Given the description of an element on the screen output the (x, y) to click on. 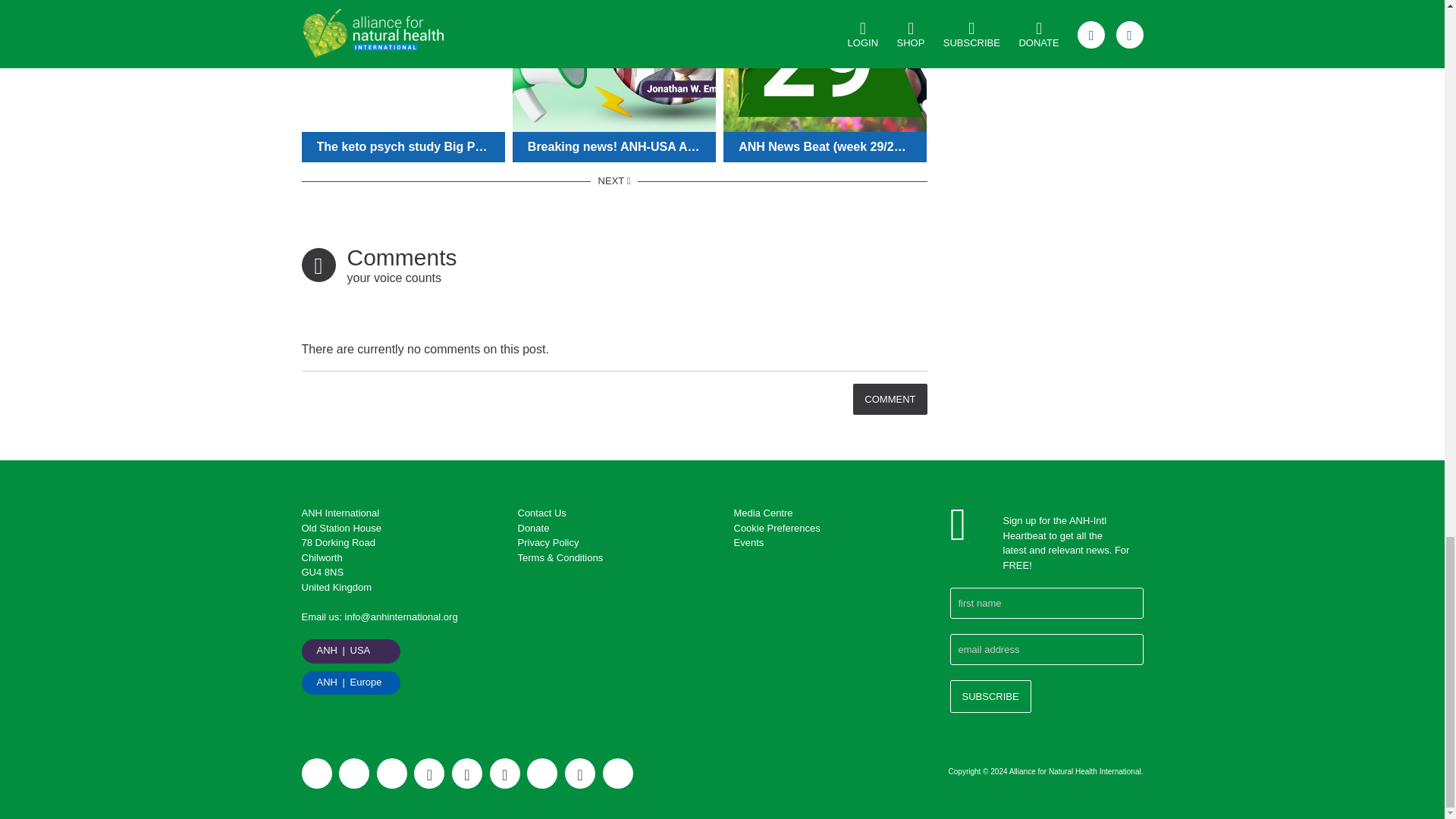
X (542, 773)
Rumble (316, 773)
Instagram (428, 773)
Telegram (354, 773)
LinkedIn (466, 773)
Odysee (392, 773)
TikTok (616, 773)
Facebook (504, 773)
YouTube (579, 773)
